Given the description of an element on the screen output the (x, y) to click on. 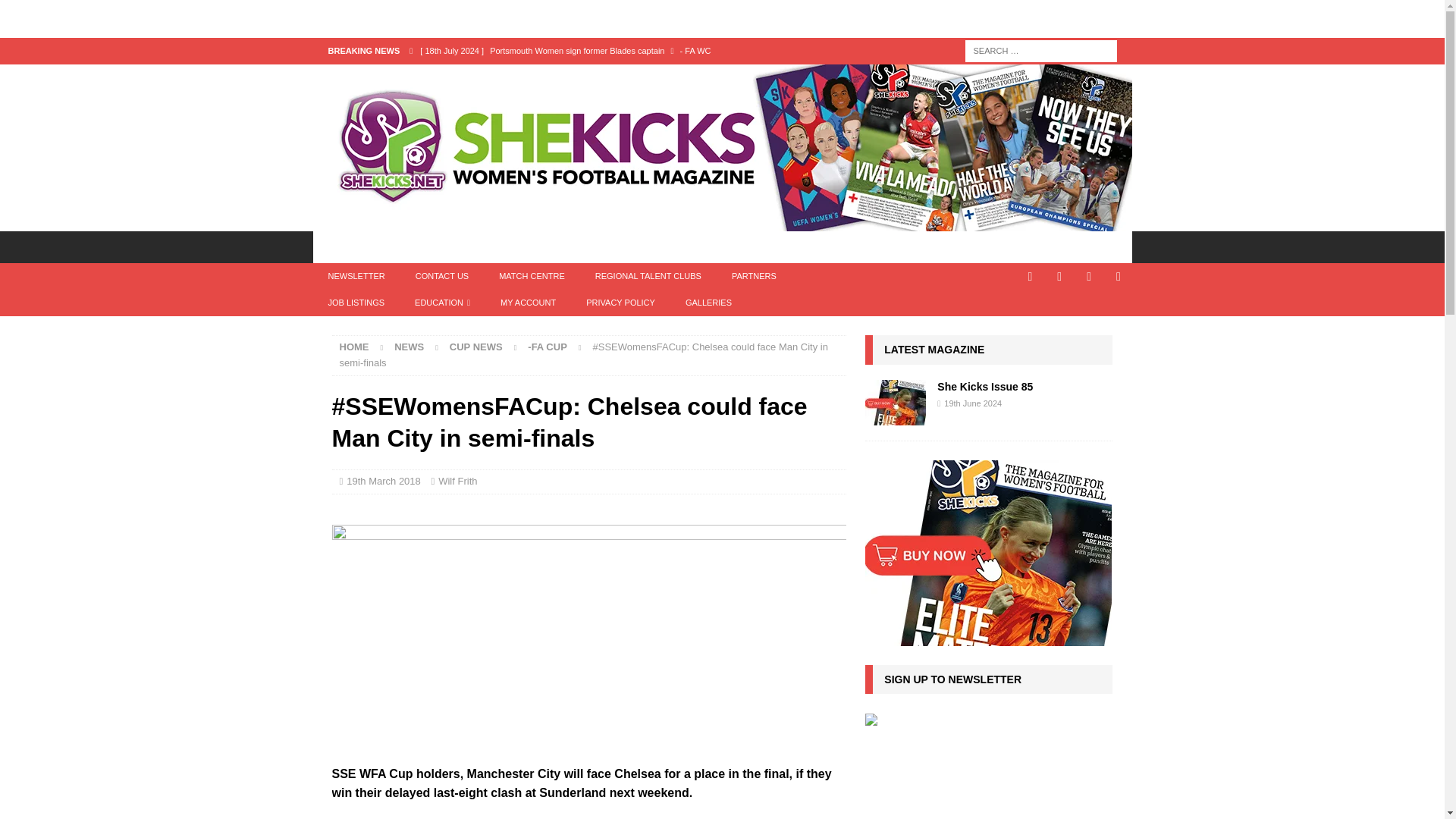
SheKicks (722, 223)
NEWS (406, 246)
Search (56, 11)
HOME (343, 246)
Ireland Women U-19s give Germany a fright (627, 76)
Portsmouth Women sign former Blades captain (627, 50)
Home (354, 346)
-FA Cup (547, 346)
